Given the description of an element on the screen output the (x, y) to click on. 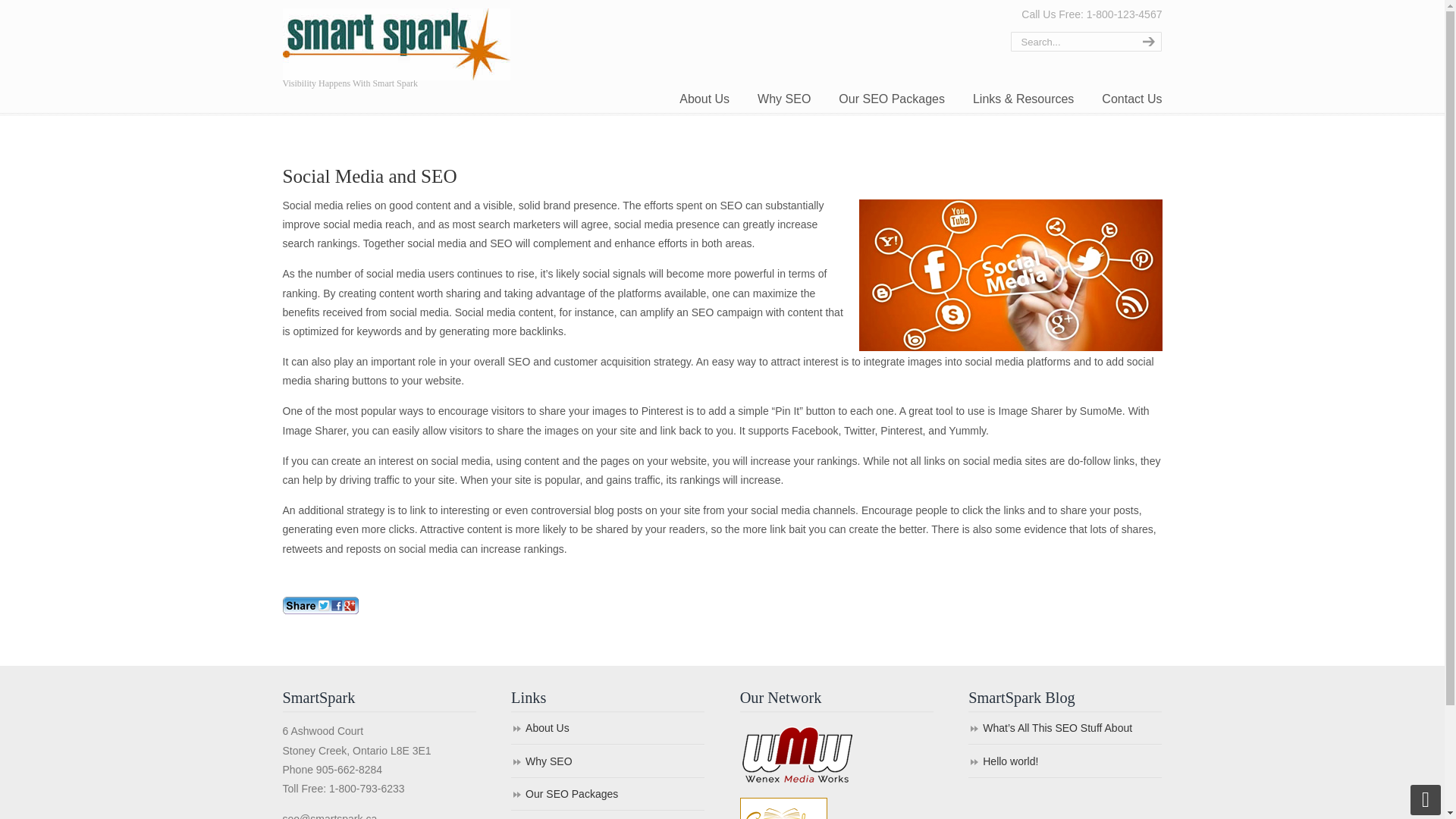
Contact Us (1131, 99)
Why SEO (607, 762)
Search... (1070, 41)
Our SEO Packages (891, 99)
Smart Spark (395, 42)
Smart Spark (395, 42)
search (1146, 41)
Why SEO (783, 99)
Our SEO Packages (607, 794)
search (1146, 41)
